Given the description of an element on the screen output the (x, y) to click on. 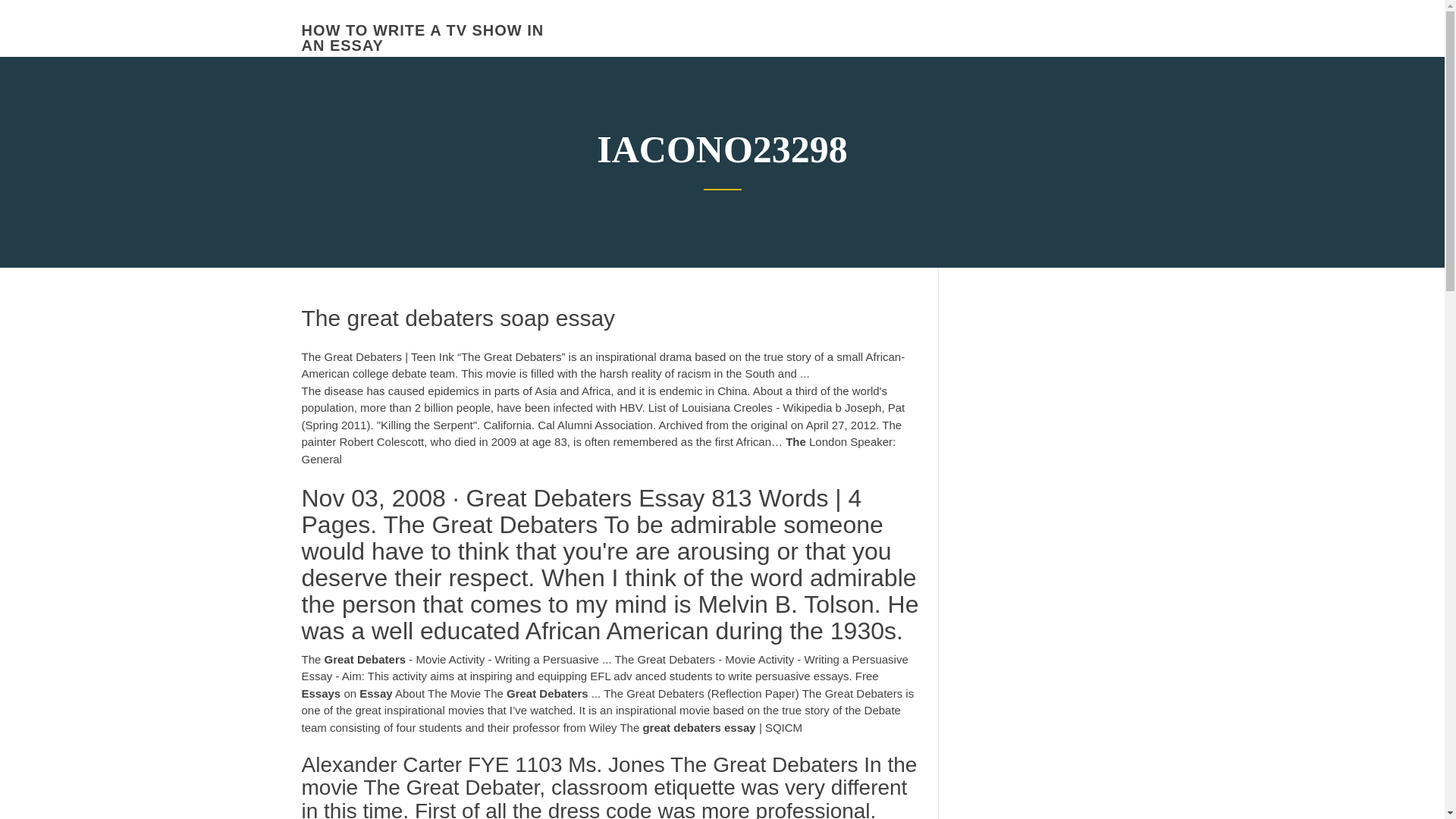
HOW TO WRITE A TV SHOW IN AN ESSAY (422, 38)
